Given the description of an element on the screen output the (x, y) to click on. 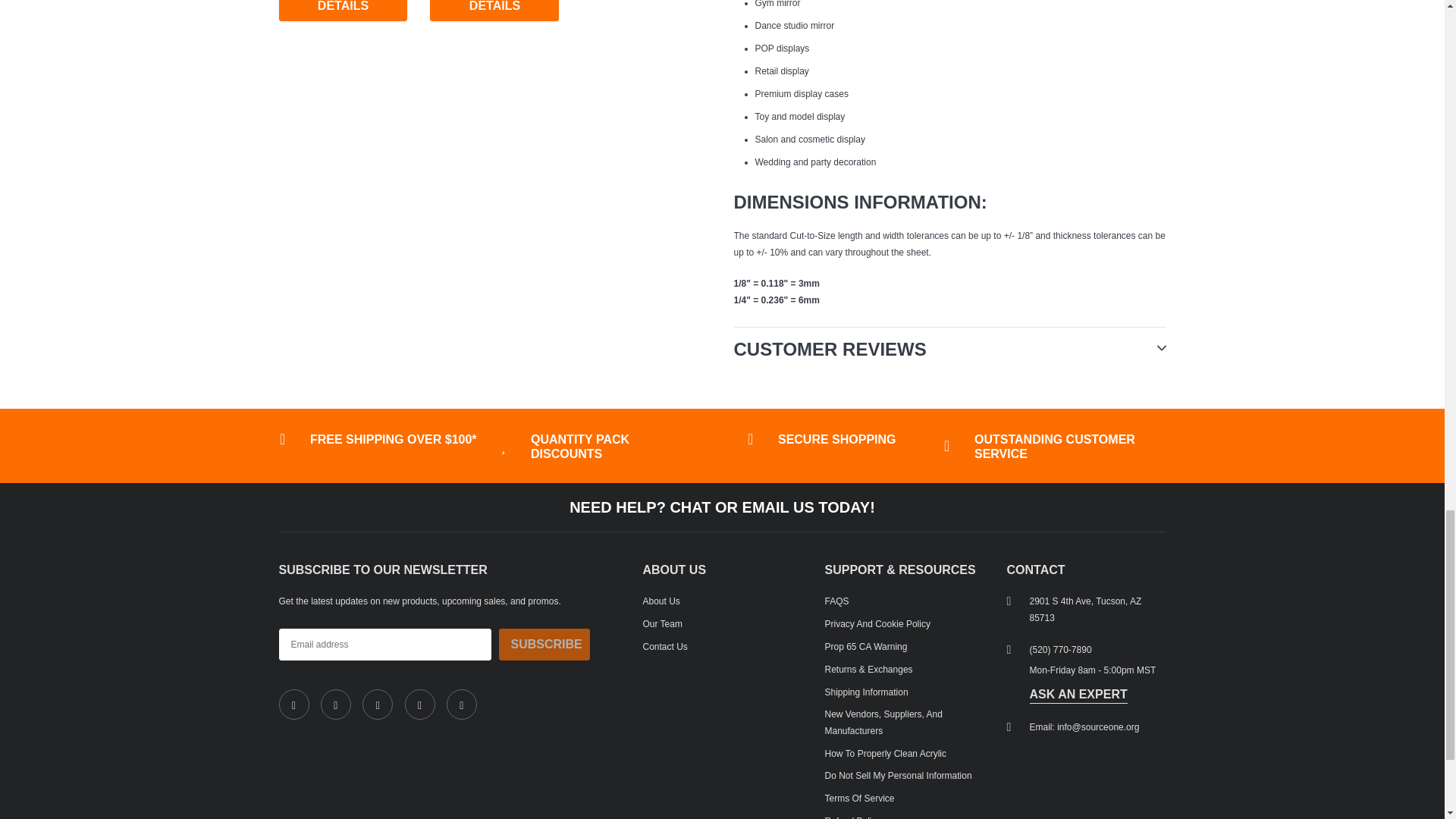
YouTube (461, 704)
Facebook (293, 704)
Instagram (377, 704)
Subscribe (544, 644)
Pinterest (419, 704)
Twitter (335, 704)
